Given the description of an element on the screen output the (x, y) to click on. 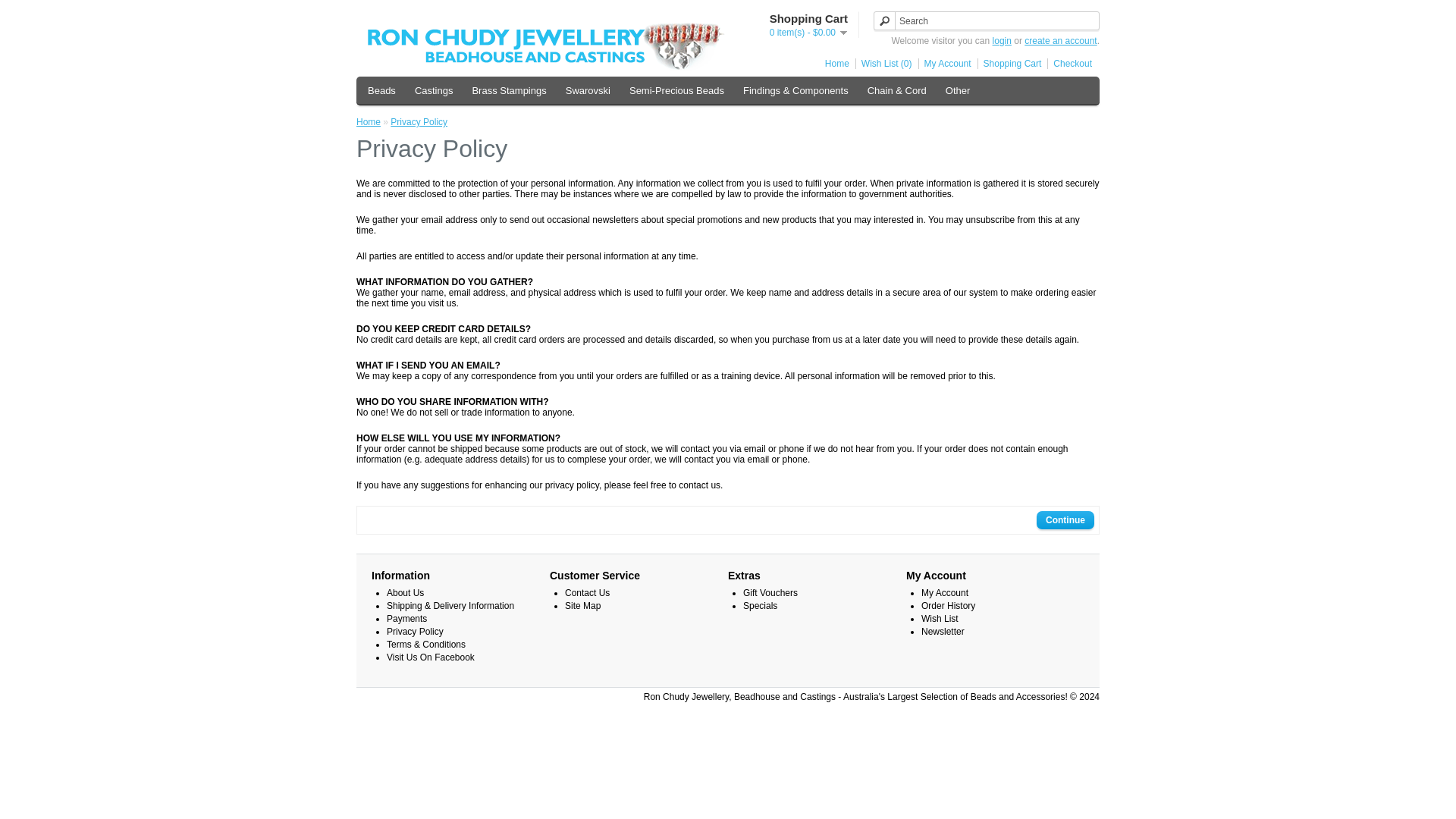
Checkout (1069, 63)
Search (986, 20)
Home (833, 63)
My Account (944, 63)
Shopping Cart (1009, 63)
login (1001, 40)
create an account (1060, 40)
Brass Stampings (508, 90)
Castings (434, 90)
Beads (381, 90)
